Given the description of an element on the screen output the (x, y) to click on. 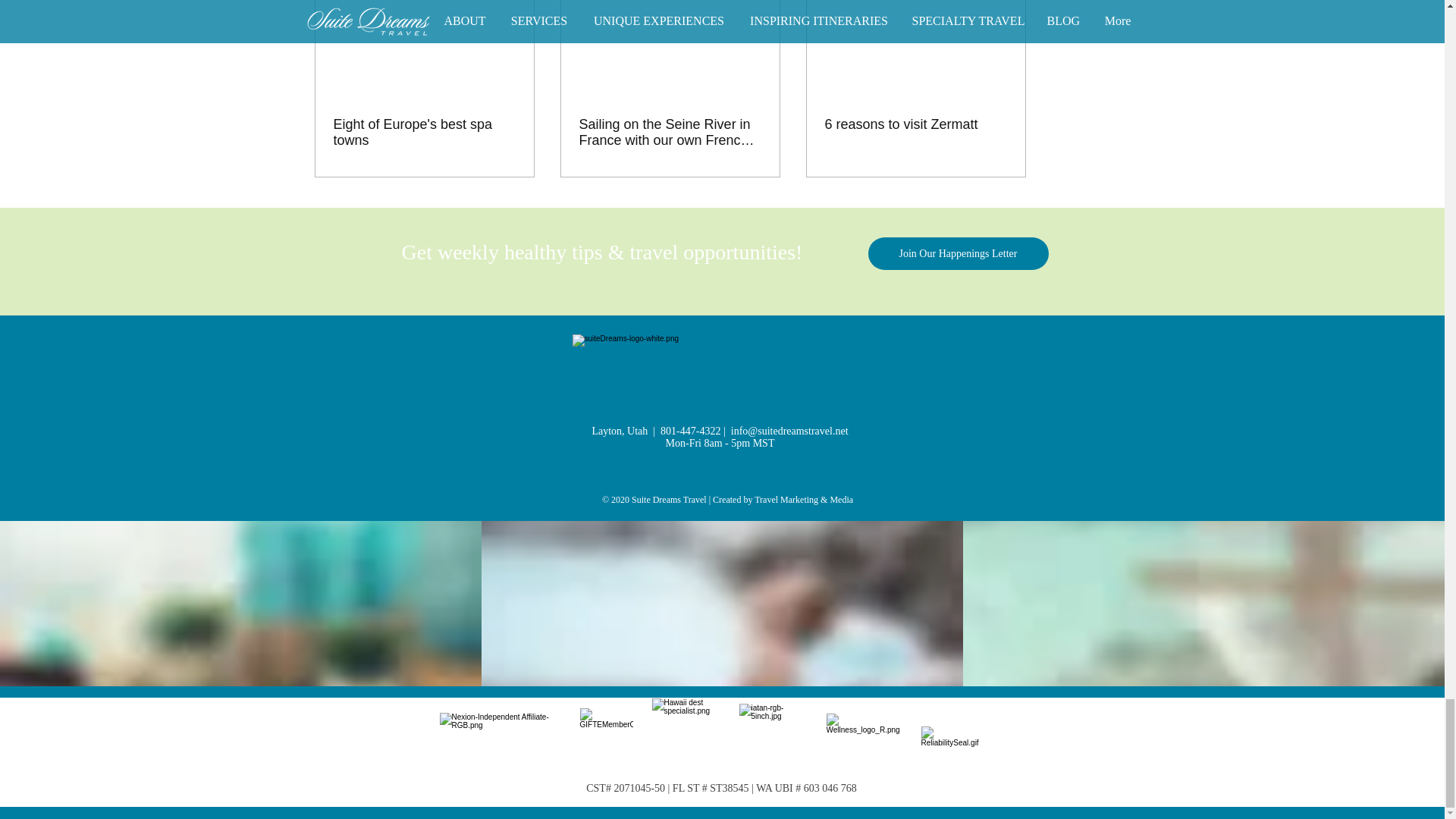
Eight of Europe's best spa towns (424, 132)
Join Our Happenings Letter (957, 253)
6 reasons to visit Zermatt (916, 124)
